Given the description of an element on the screen output the (x, y) to click on. 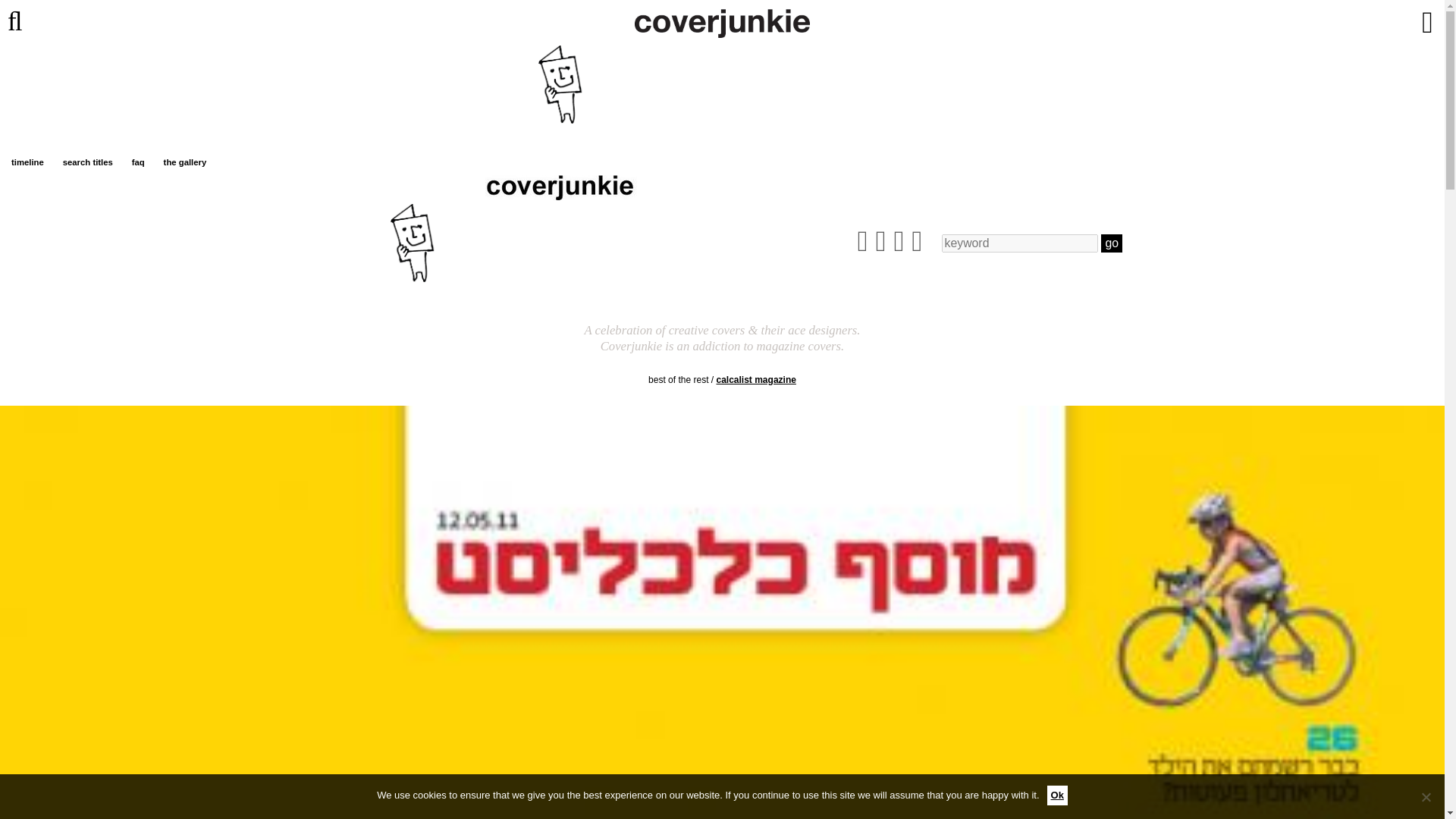
the gallery (184, 162)
faq (138, 162)
timeline (27, 162)
No (1425, 795)
search titles (87, 162)
go (1111, 243)
